Given the description of an element on the screen output the (x, y) to click on. 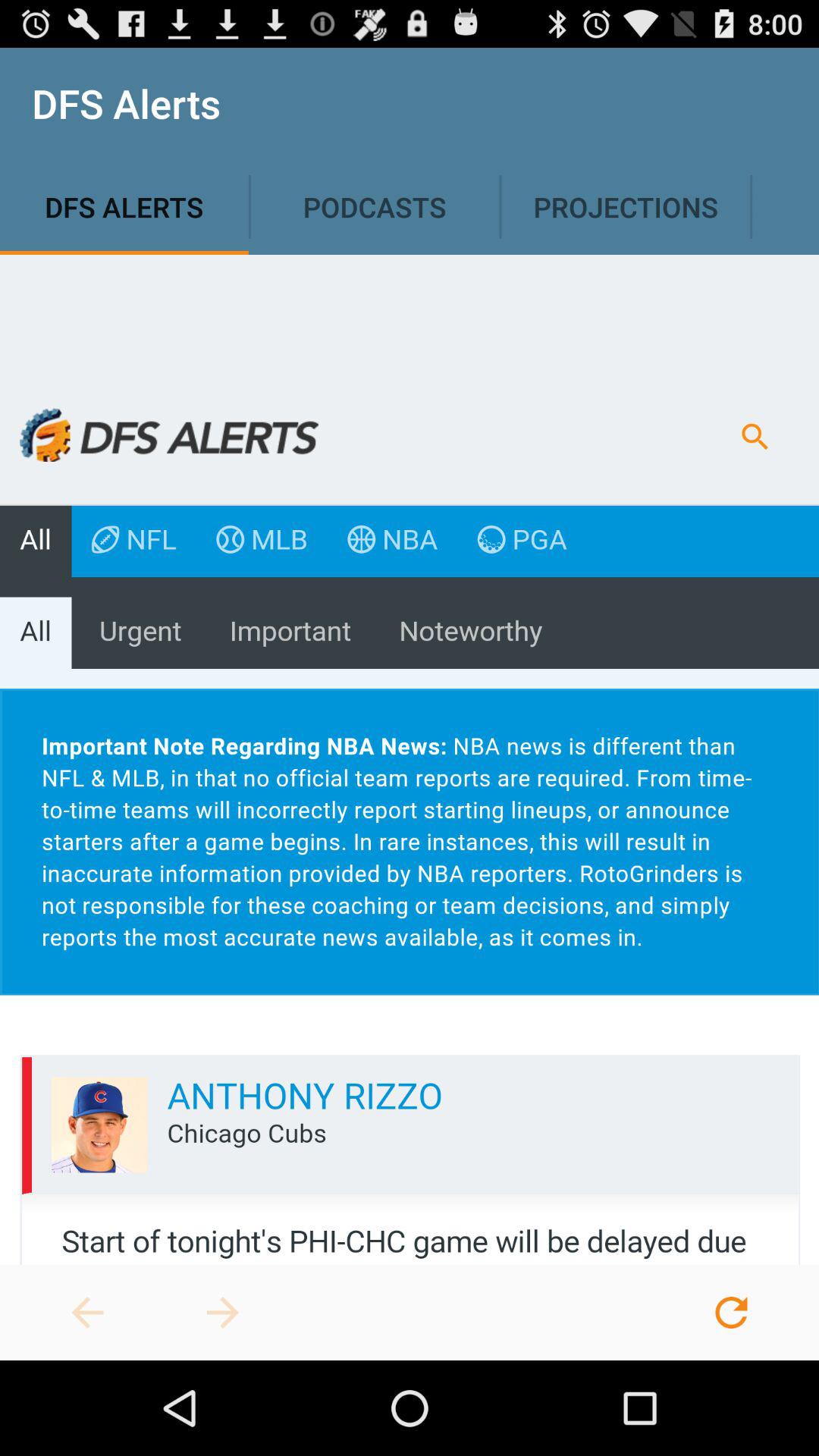
go forward (222, 1312)
